Given the description of an element on the screen output the (x, y) to click on. 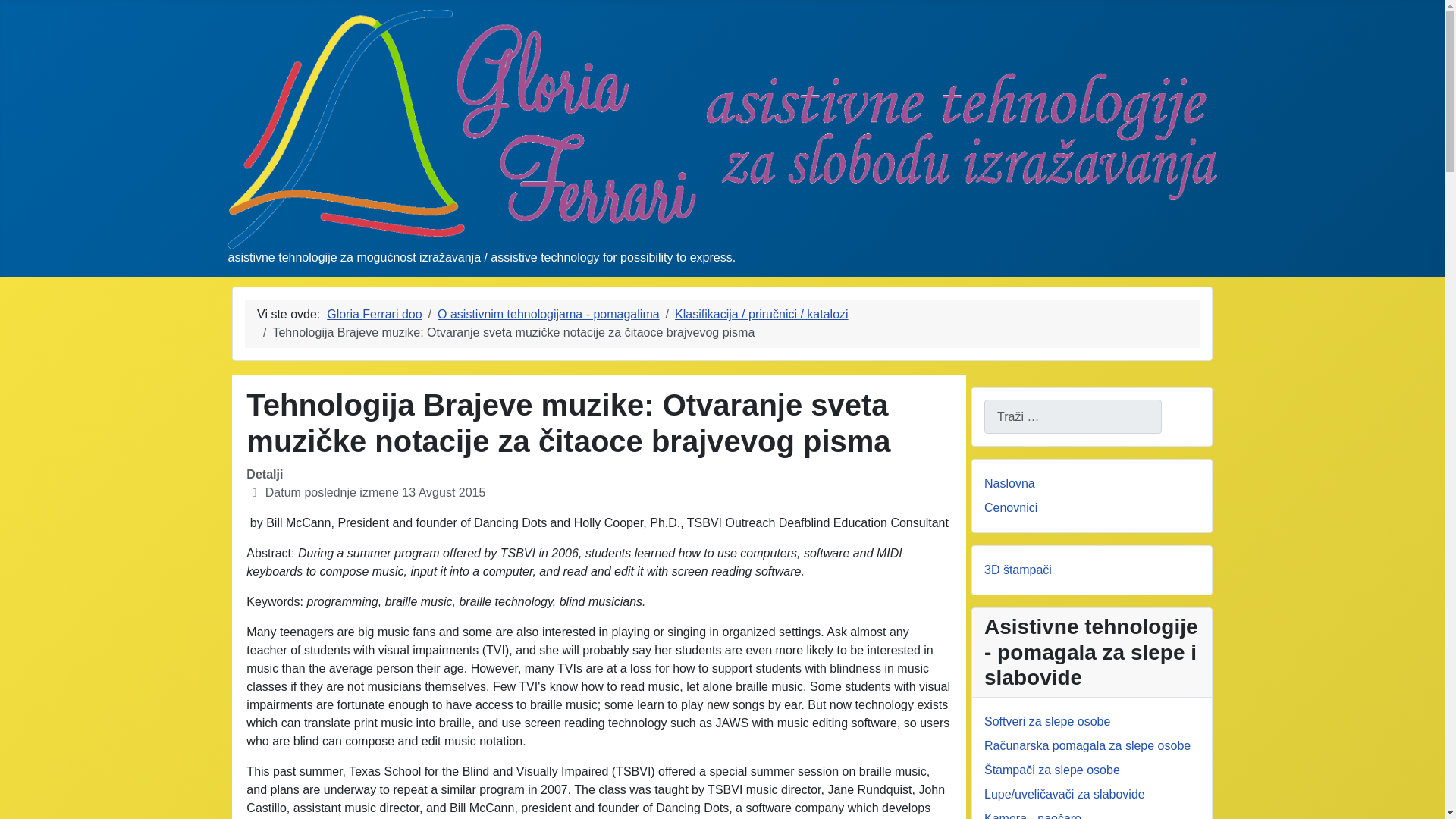
Naslovna (1009, 482)
Softveri za slepe osobe (1046, 721)
Cenovnici (1010, 507)
O asistivnim tehnologijama - pomagalima (548, 314)
Gloria Ferrari doo (374, 314)
